Given the description of an element on the screen output the (x, y) to click on. 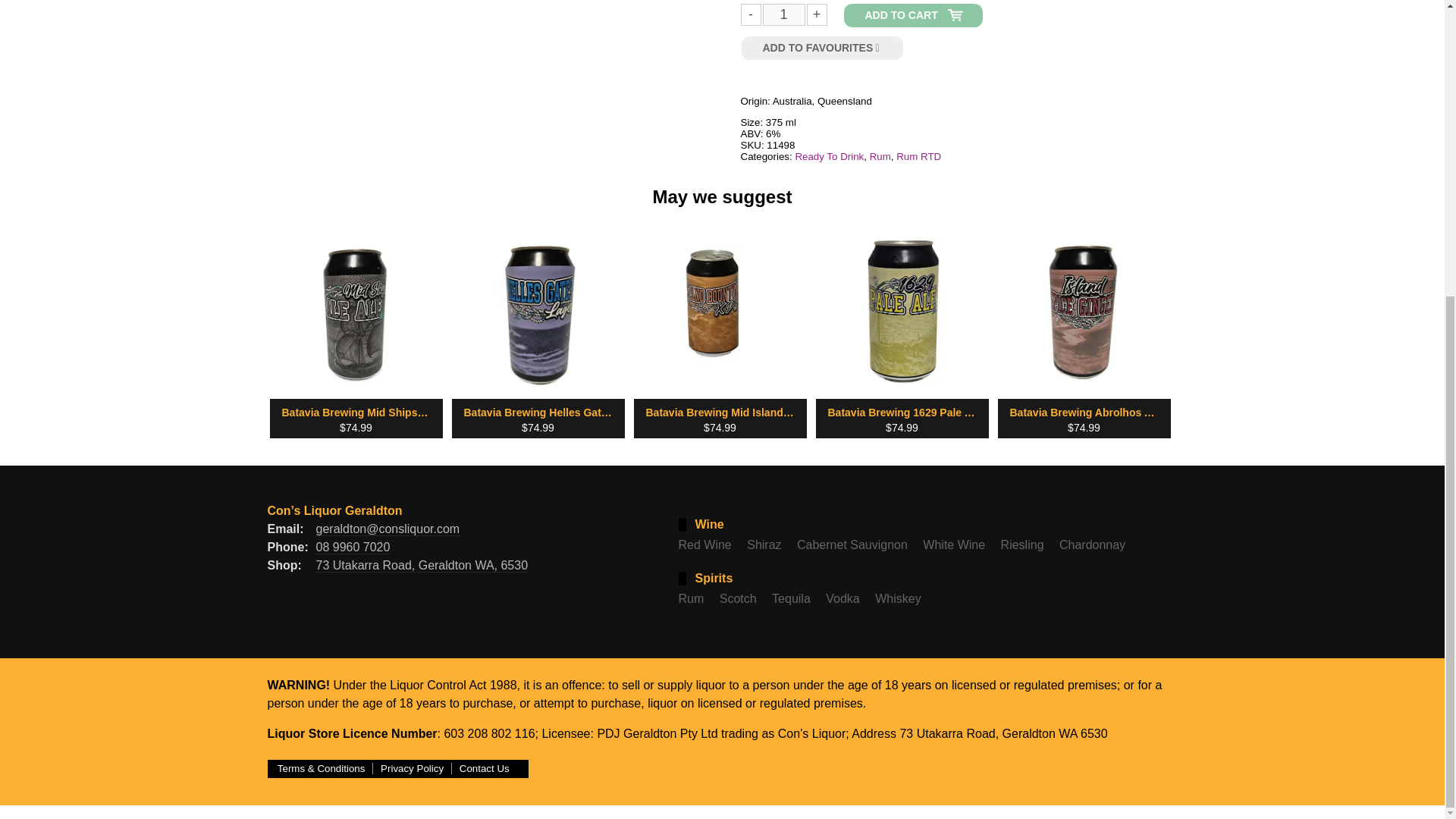
Add to Favourites (821, 48)
1 (782, 14)
